Given the description of an element on the screen output the (x, y) to click on. 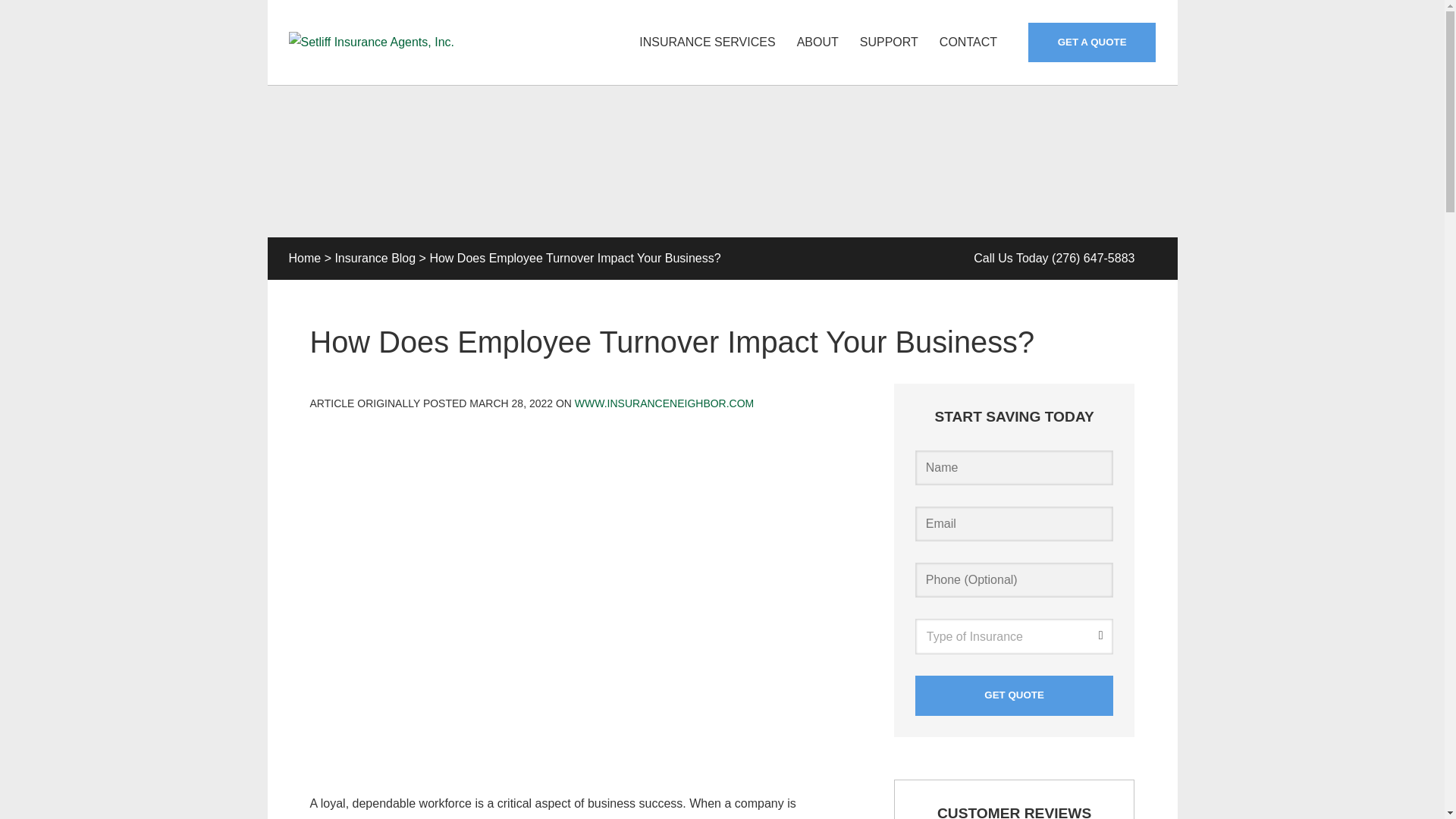
INSURANCE SERVICES (707, 42)
Get Quote (1014, 694)
SUPPORT (888, 42)
ABOUT (817, 42)
Setliff Insurance Agents, Inc. (371, 42)
